Given the description of an element on the screen output the (x, y) to click on. 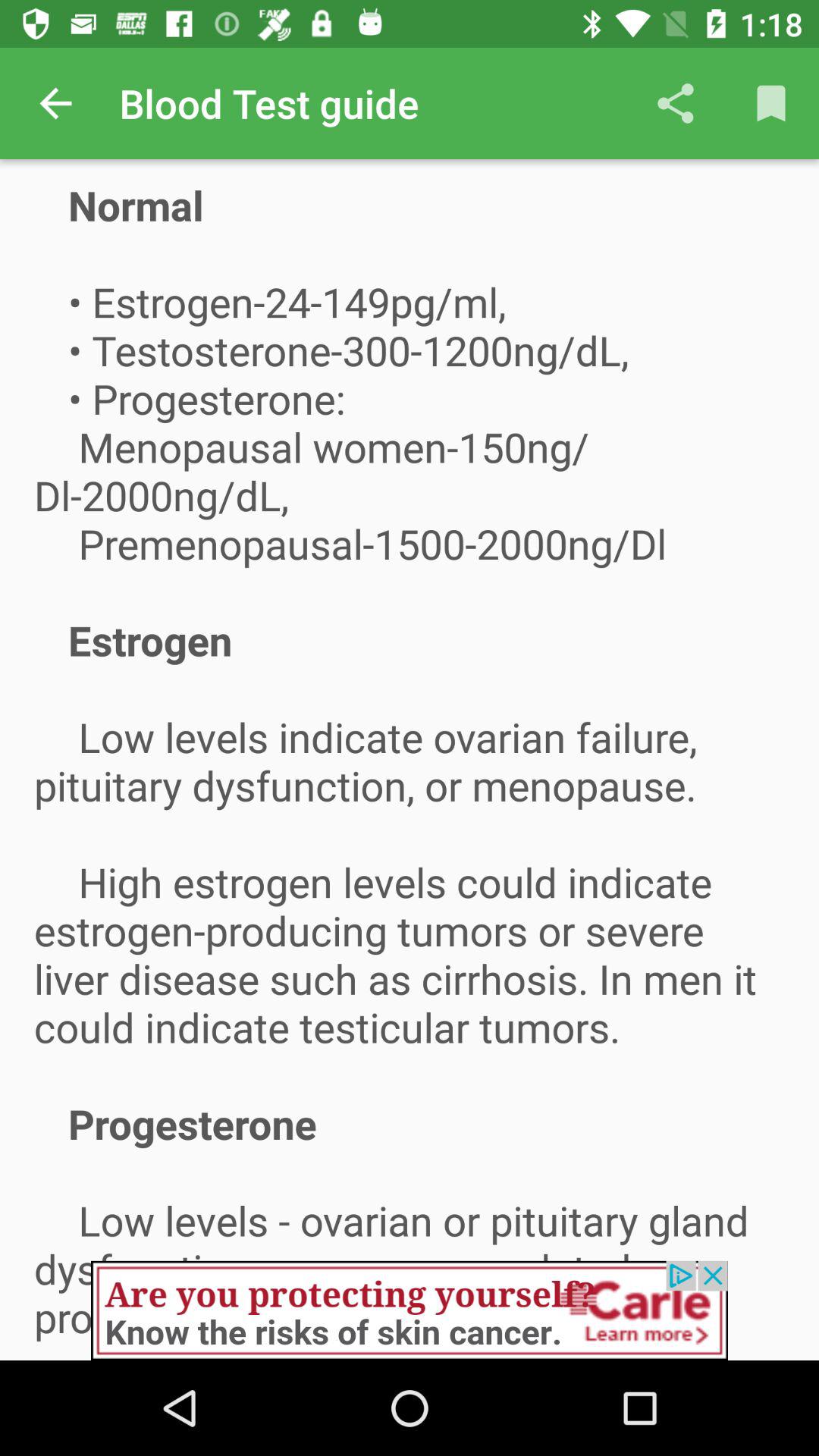
click advertisement (409, 1310)
